Given the description of an element on the screen output the (x, y) to click on. 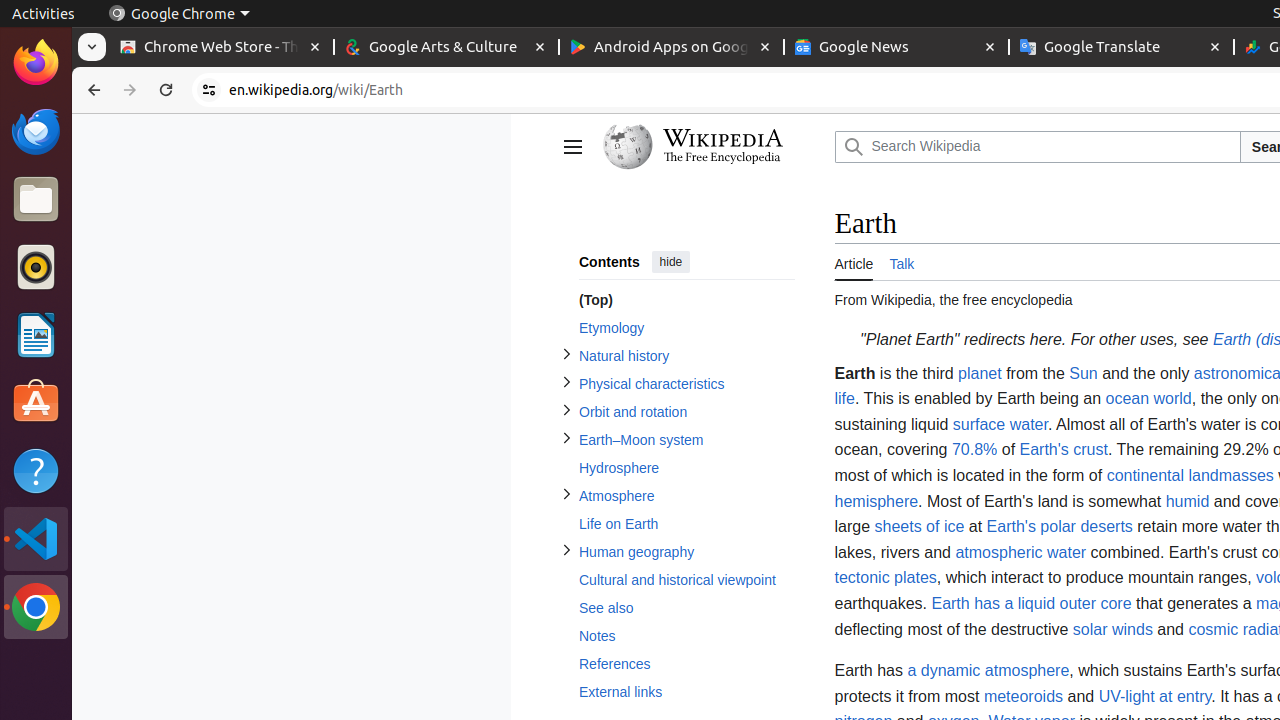
Human geography Element type: link (686, 552)
Main menu Element type: push-button (572, 147)
Orbit and rotation Element type: link (686, 412)
Wikipedia The Free Encyclopedia Element type: link (713, 147)
Visual Studio Code Element type: menu (190, 13)
